Given the description of an element on the screen output the (x, y) to click on. 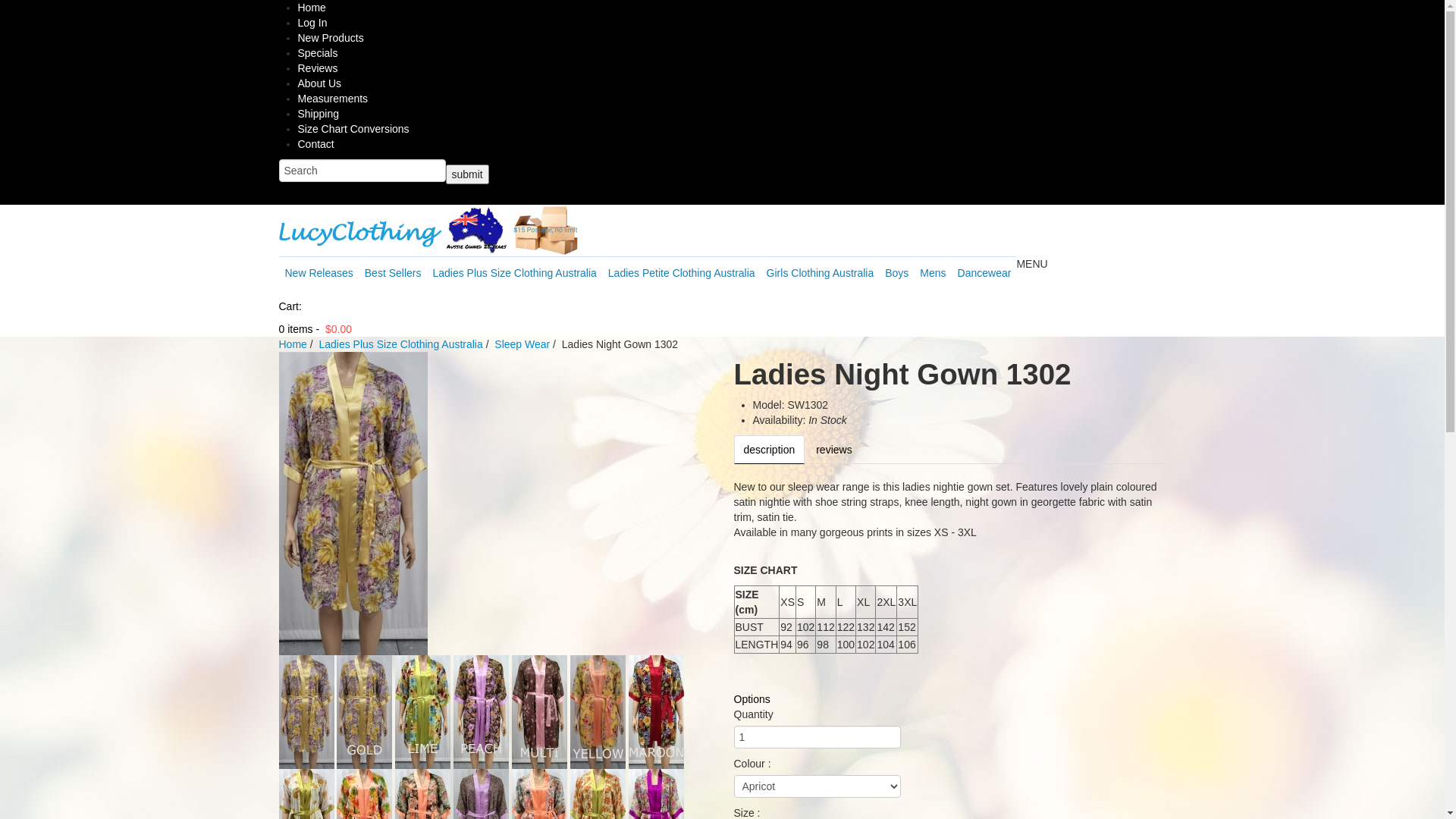
Reviews Element type: text (317, 68)
Home Element type: text (311, 7)
New Releases Element type: text (318, 272)
Ladies Night Gown 1302 Element type: hover (353, 502)
submit Element type: text (467, 174)
Ladies Night Gown 1302 Element type: hover (306, 711)
Ladies Night Gown 1302 Element type: hover (422, 711)
Ladies Night Gown 1302 Element type: hover (656, 711)
Mens Element type: text (931, 272)
Sleep Wear Element type: text (521, 344)
About Us Element type: text (319, 83)
Best Sellers Element type: text (392, 272)
Girls Clothing Australia Element type: text (819, 272)
Home Element type: text (293, 344)
description Element type: text (769, 449)
Ladies Plus Size Clothing Australia Element type: text (400, 344)
Cart:
0 items -  $0.00 Element type: text (722, 317)
New Products Element type: text (330, 37)
Measurements Element type: text (332, 98)
Size Chart Conversions Element type: text (352, 128)
Ladies Plus Size Clothing Australia Element type: text (513, 272)
Dancewear Element type: text (983, 272)
Specials Element type: text (317, 53)
Boys Element type: text (895, 272)
Ladies Night Gown 1302 Element type: hover (597, 711)
Log In Element type: text (311, 22)
Shipping Element type: text (317, 113)
Contact Element type: text (315, 144)
Ladies Night Gown 1302 Element type: hover (539, 711)
Ladies Night Gown 1302 Element type: hover (480, 711)
reviews Element type: text (833, 449)
Ladies Petite Clothing Australia Element type: text (681, 272)
Ladies Night Gown 1302 Element type: hover (364, 711)
